Given the description of an element on the screen output the (x, y) to click on. 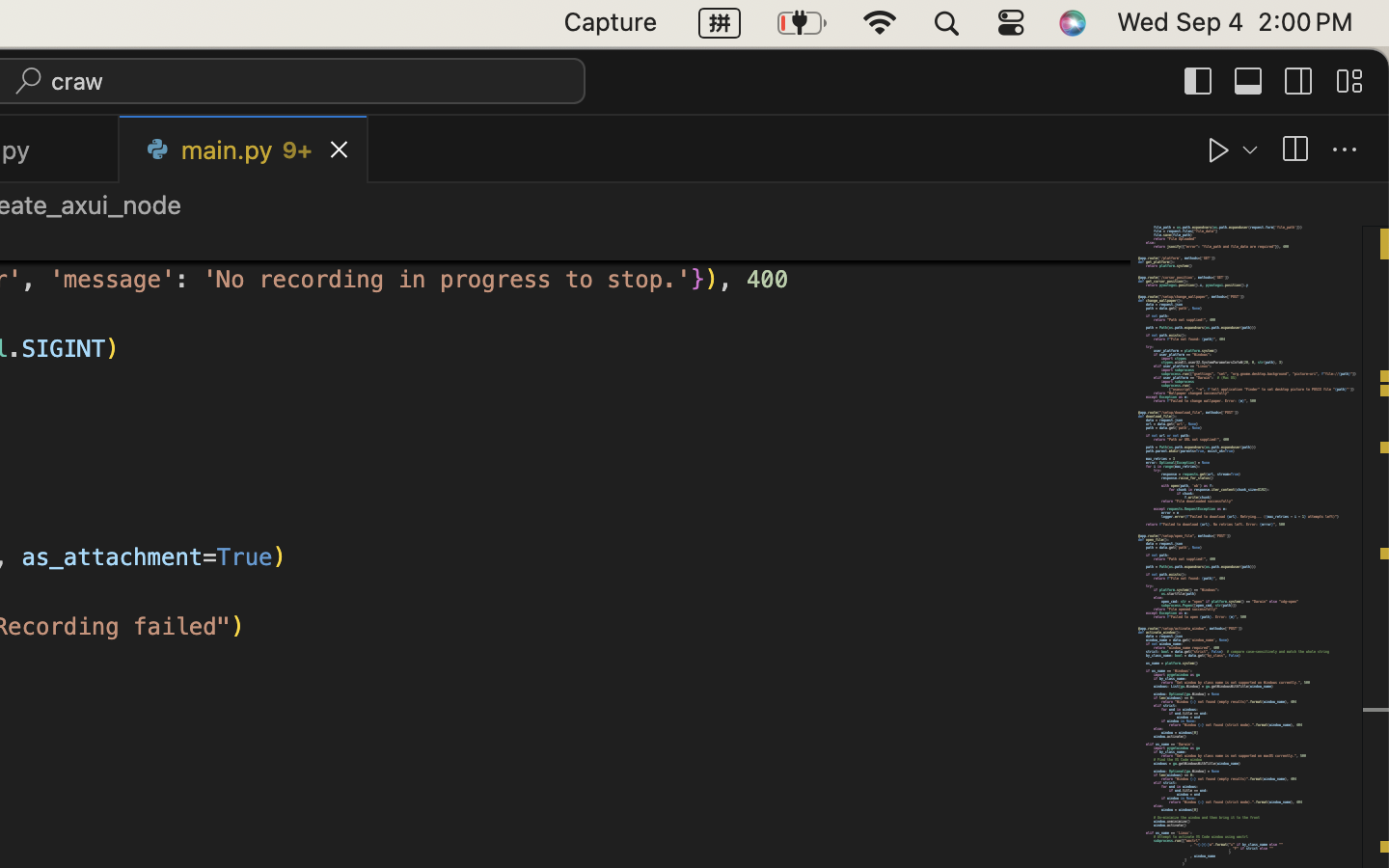
 Element type: AXCheckBox (1198, 80)
1 main.py   9+ Element type: AXRadioButton (243, 149)
craw Element type: AXStaticText (78, 80)
 Element type: AXButton (1349, 80)
 Element type: AXGroup (1219, 150)
